Given the description of an element on the screen output the (x, y) to click on. 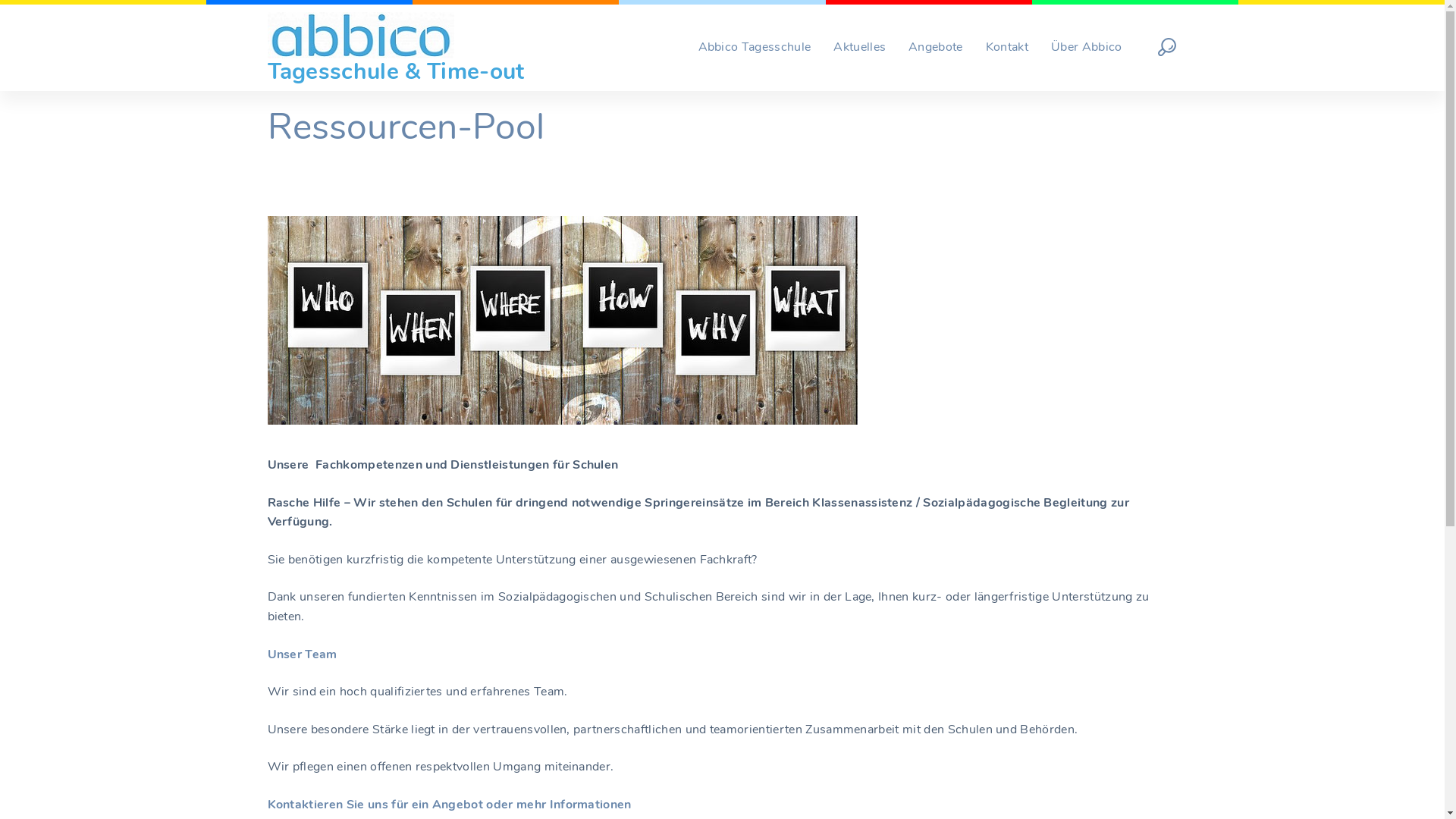
Aktuelles Element type: text (859, 47)
Tagesschule & Time-out Element type: text (395, 47)
Unser Team Element type: text (301, 654)
Kontakt Element type: text (1006, 47)
Abbico Tagesschule Element type: text (754, 47)
Angebote Element type: text (935, 47)
